Given the description of an element on the screen output the (x, y) to click on. 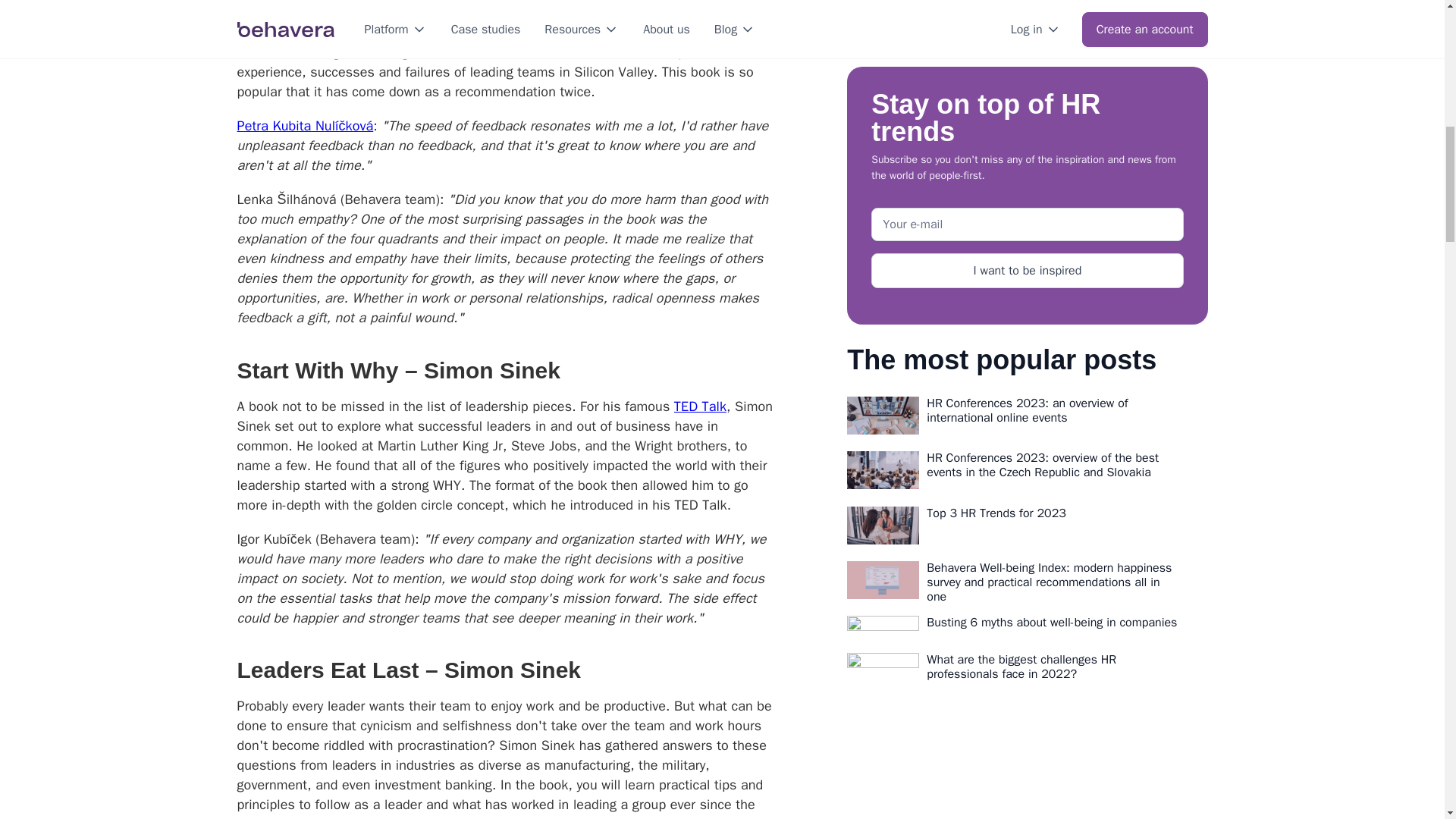
Top 3 HR Trends for 2023 (1052, 11)
TED Talk (700, 406)
